Given the description of an element on the screen output the (x, y) to click on. 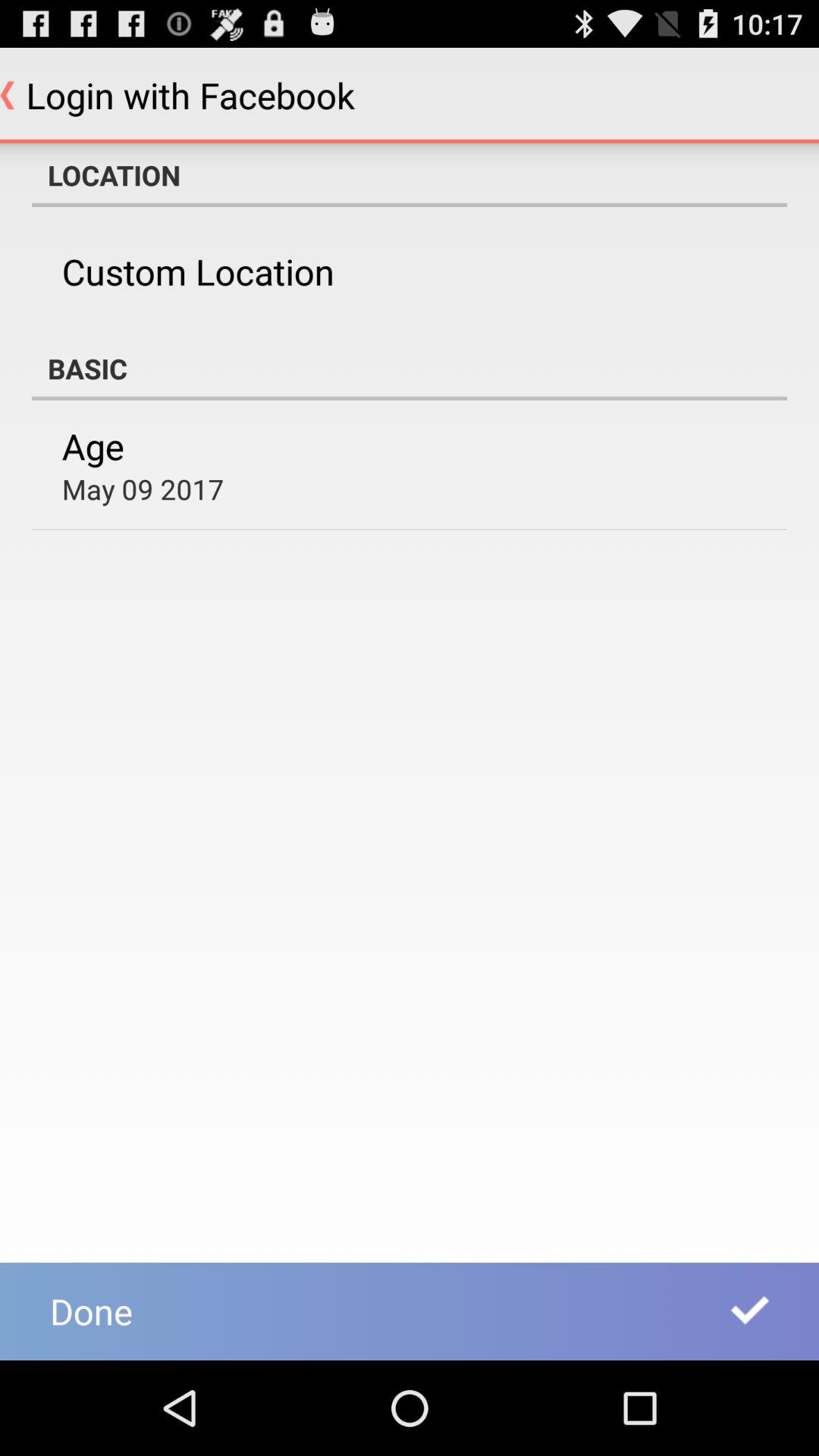
turn off app below age icon (142, 488)
